Given the description of an element on the screen output the (x, y) to click on. 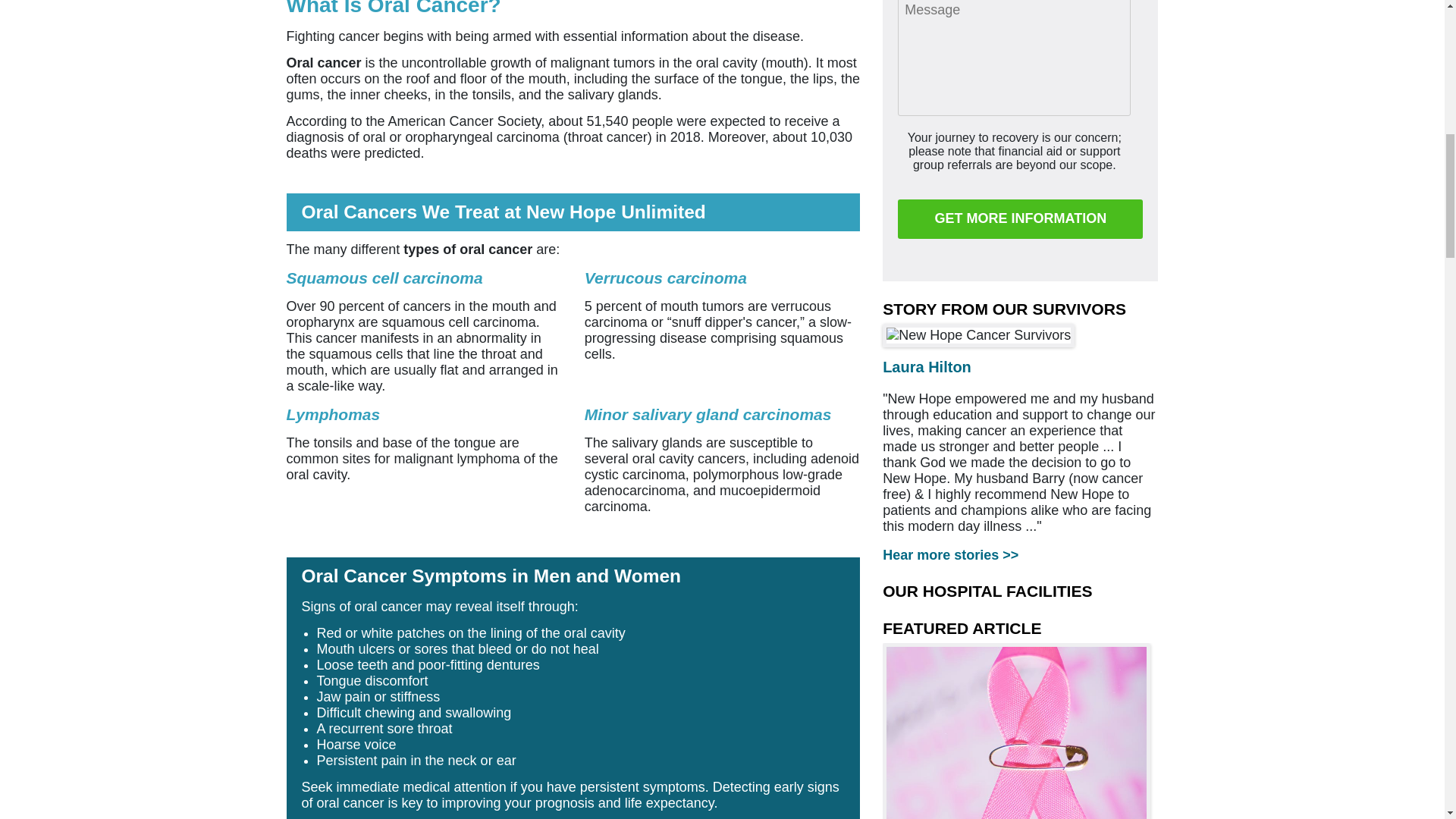
New Hope Cancer Survivors (978, 335)
Get More Information (1020, 219)
Get More Information (1020, 219)
